Given the description of an element on the screen output the (x, y) to click on. 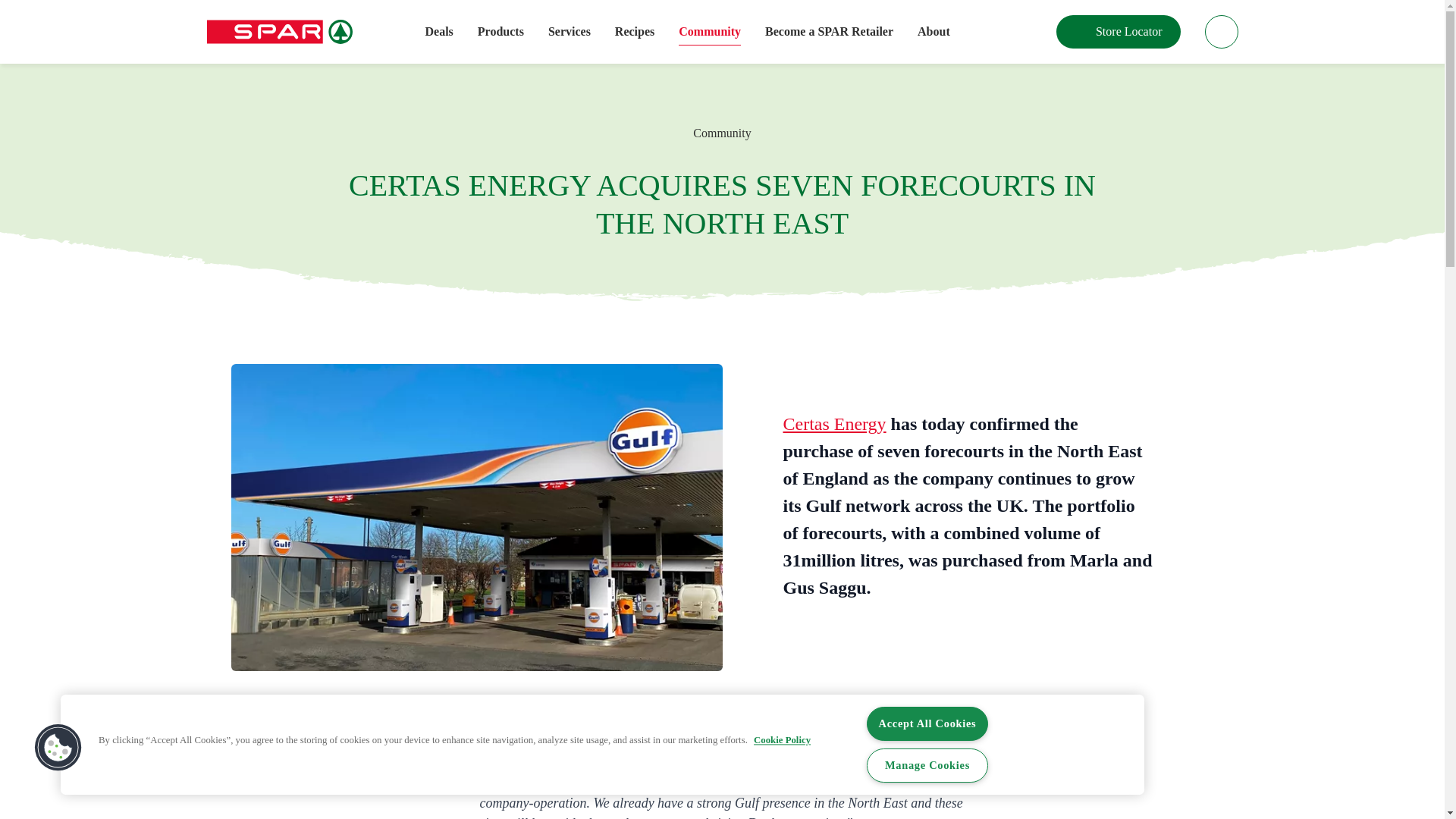
Services (569, 31)
Recipes (633, 31)
Community (709, 31)
Certas Energy (834, 424)
Cookies Button (57, 748)
Products (500, 31)
